Given the description of an element on the screen output the (x, y) to click on. 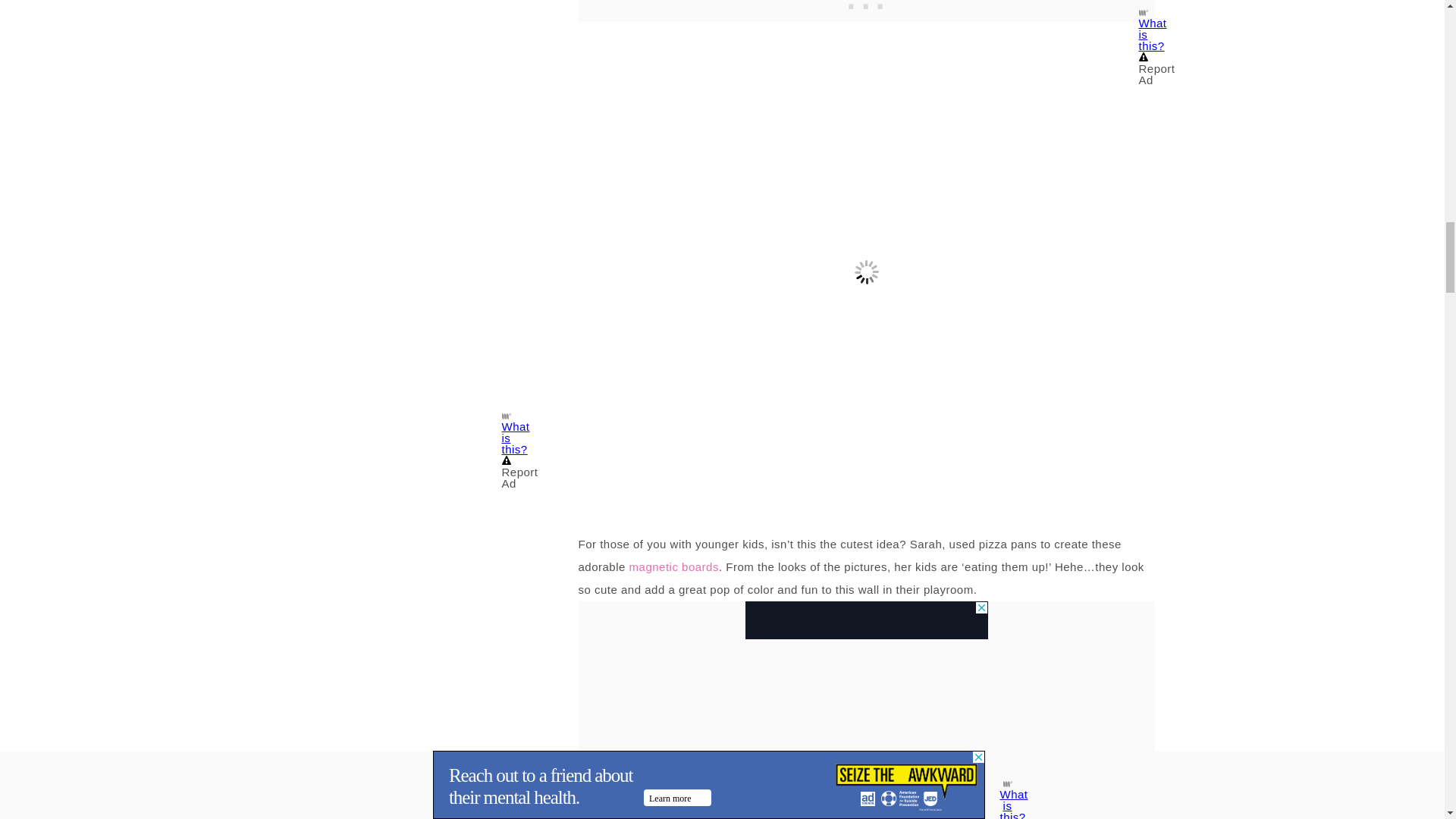
3rd party ad content (865, 620)
